Given the description of an element on the screen output the (x, y) to click on. 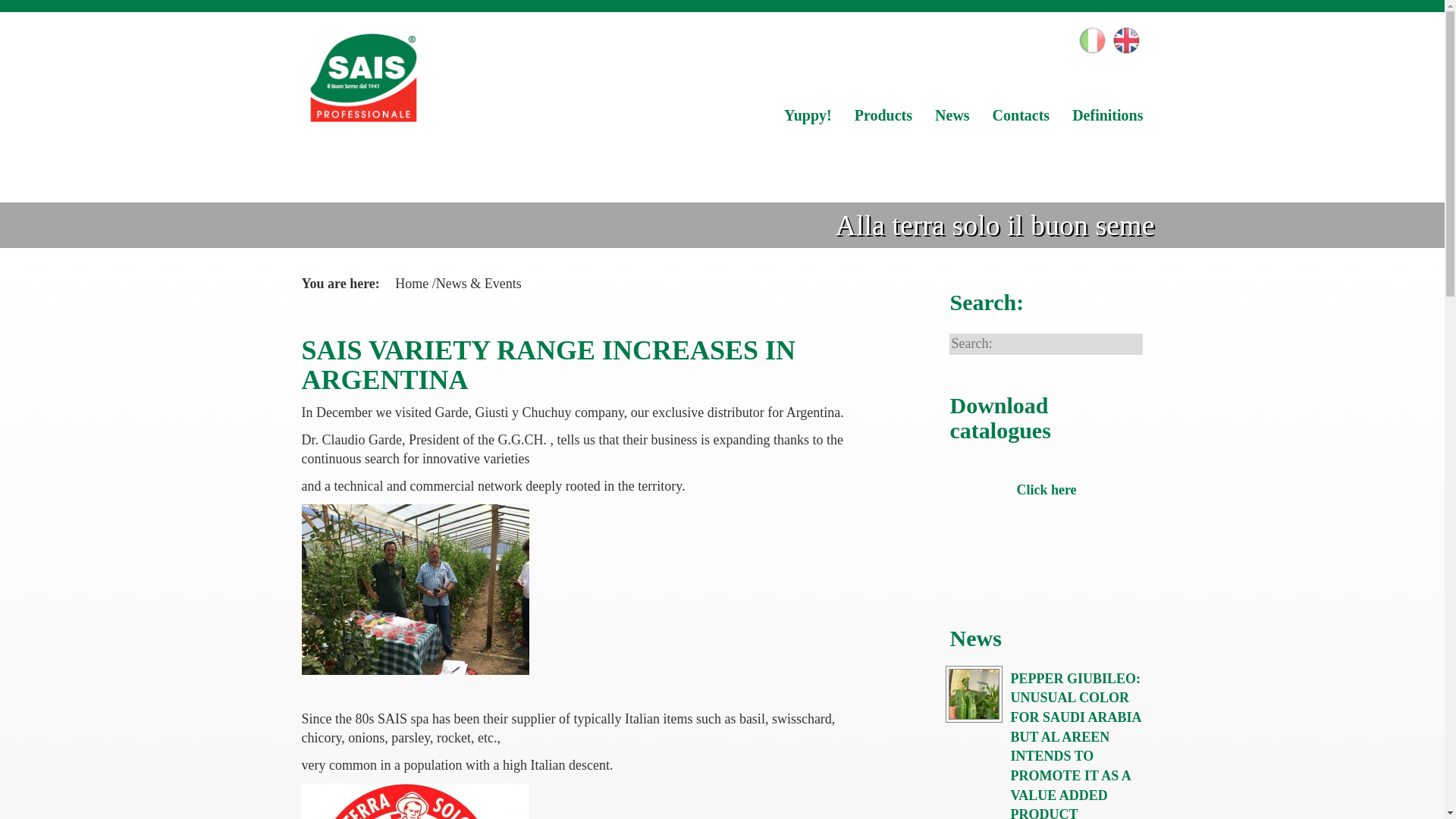
Products (883, 115)
Yuppy! (808, 115)
News (952, 115)
Definitions (1107, 115)
Contacts (1021, 115)
Contacts (1021, 115)
Products (883, 115)
Yuppy! (808, 115)
Definitions (1107, 115)
News (952, 115)
